Given the description of an element on the screen output the (x, y) to click on. 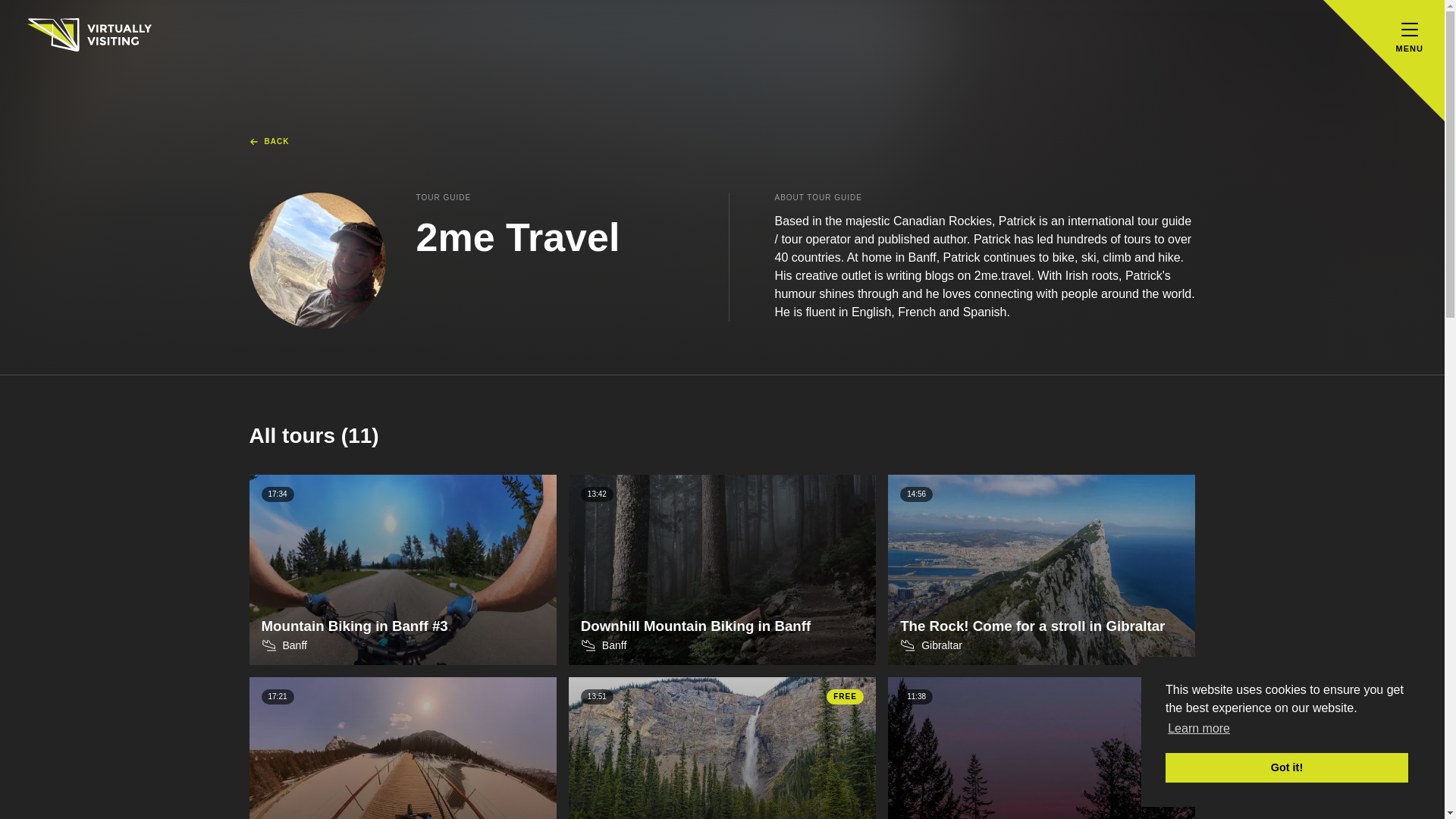
Got it! (1286, 767)
BACK (722, 570)
Learn more (268, 141)
